Given the description of an element on the screen output the (x, y) to click on. 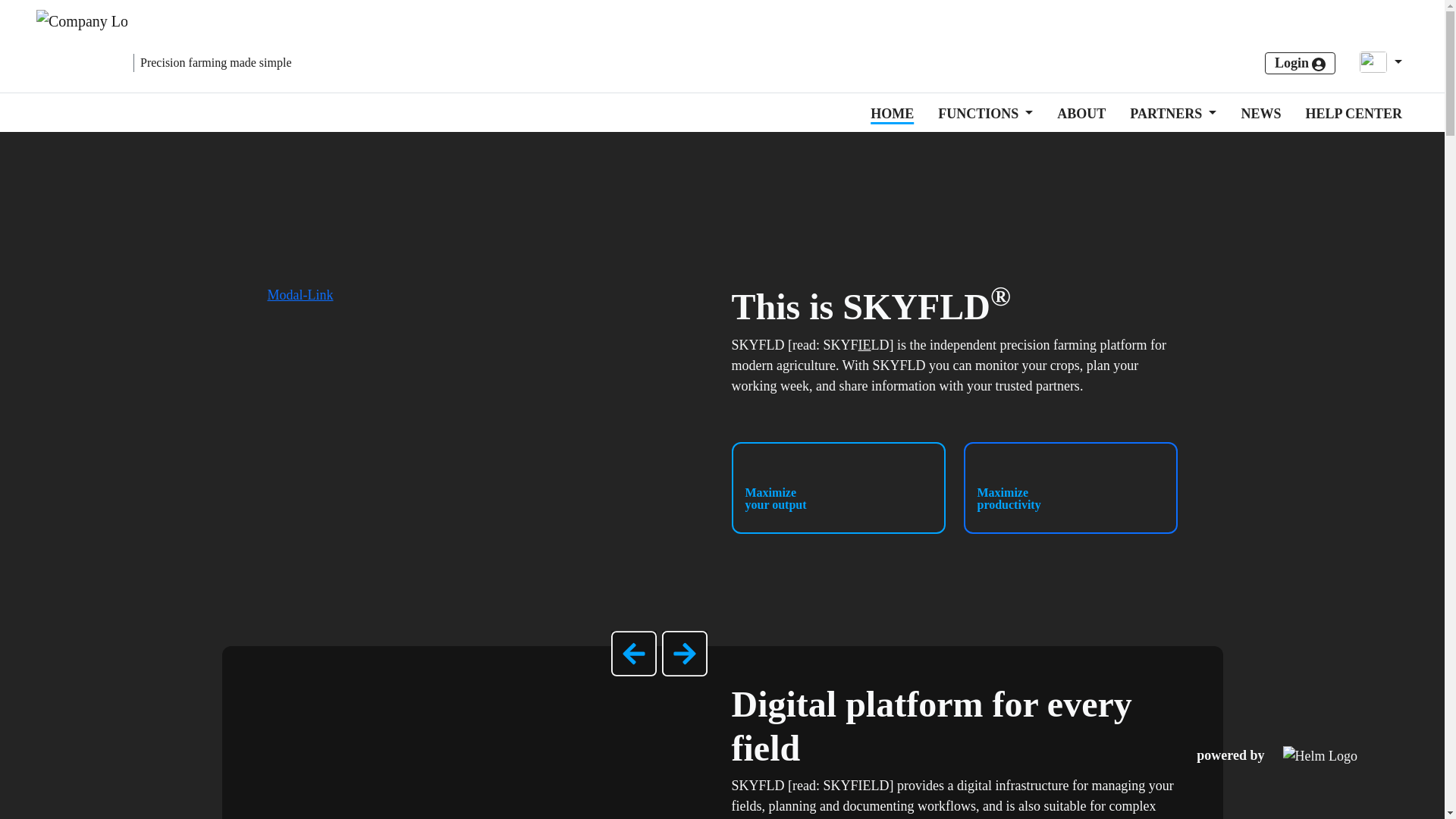
Precision farming made simple (164, 45)
HELP CENTER (1347, 113)
NEWS (1255, 113)
Login (1300, 63)
ABOUT (1075, 113)
HOME (885, 113)
PARTNERS (1167, 113)
weiter (1409, 33)
FUNCTIONS (979, 113)
